Given the description of an element on the screen output the (x, y) to click on. 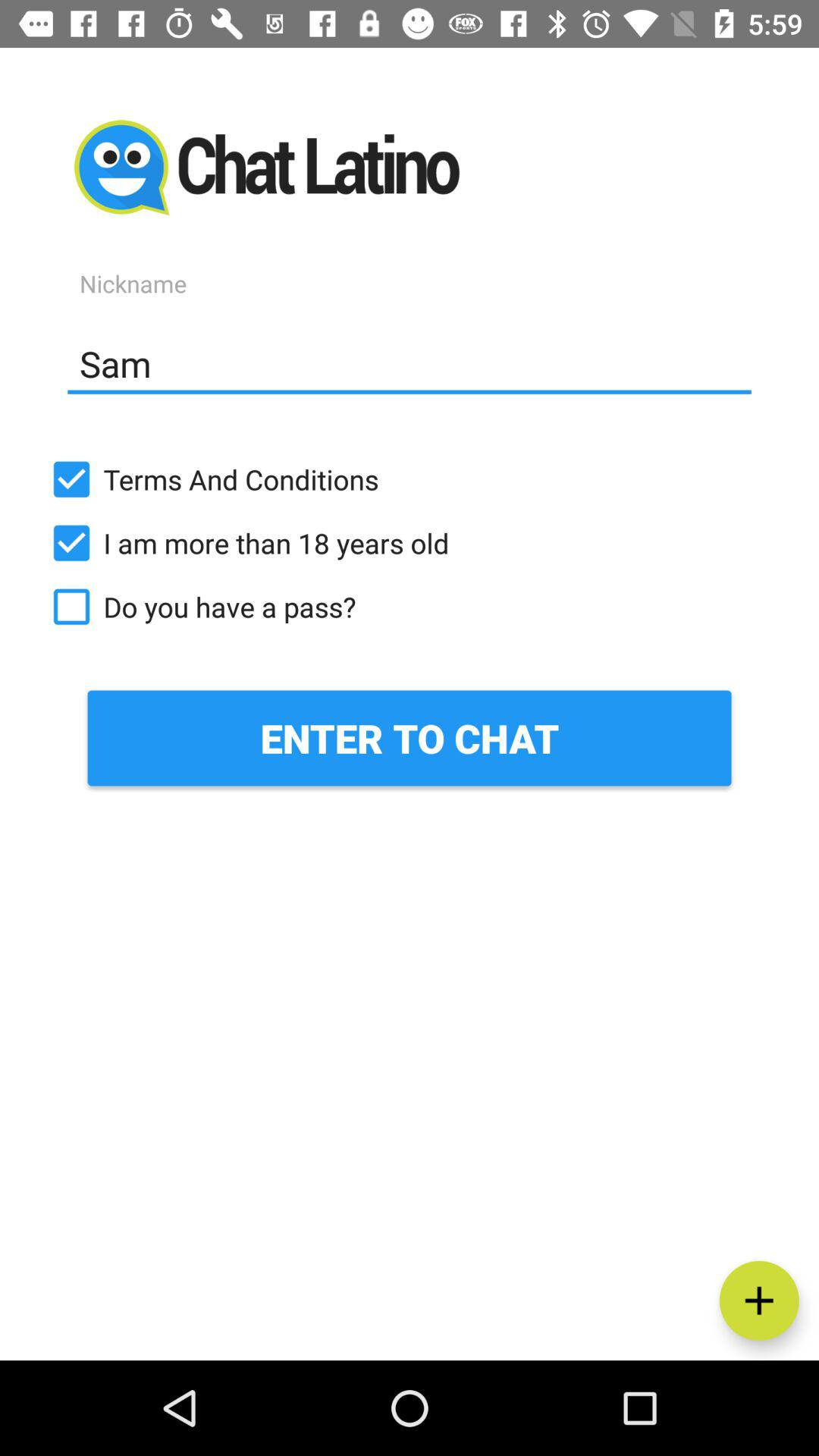
turn off terms and conditions item (409, 479)
